Given the description of an element on the screen output the (x, y) to click on. 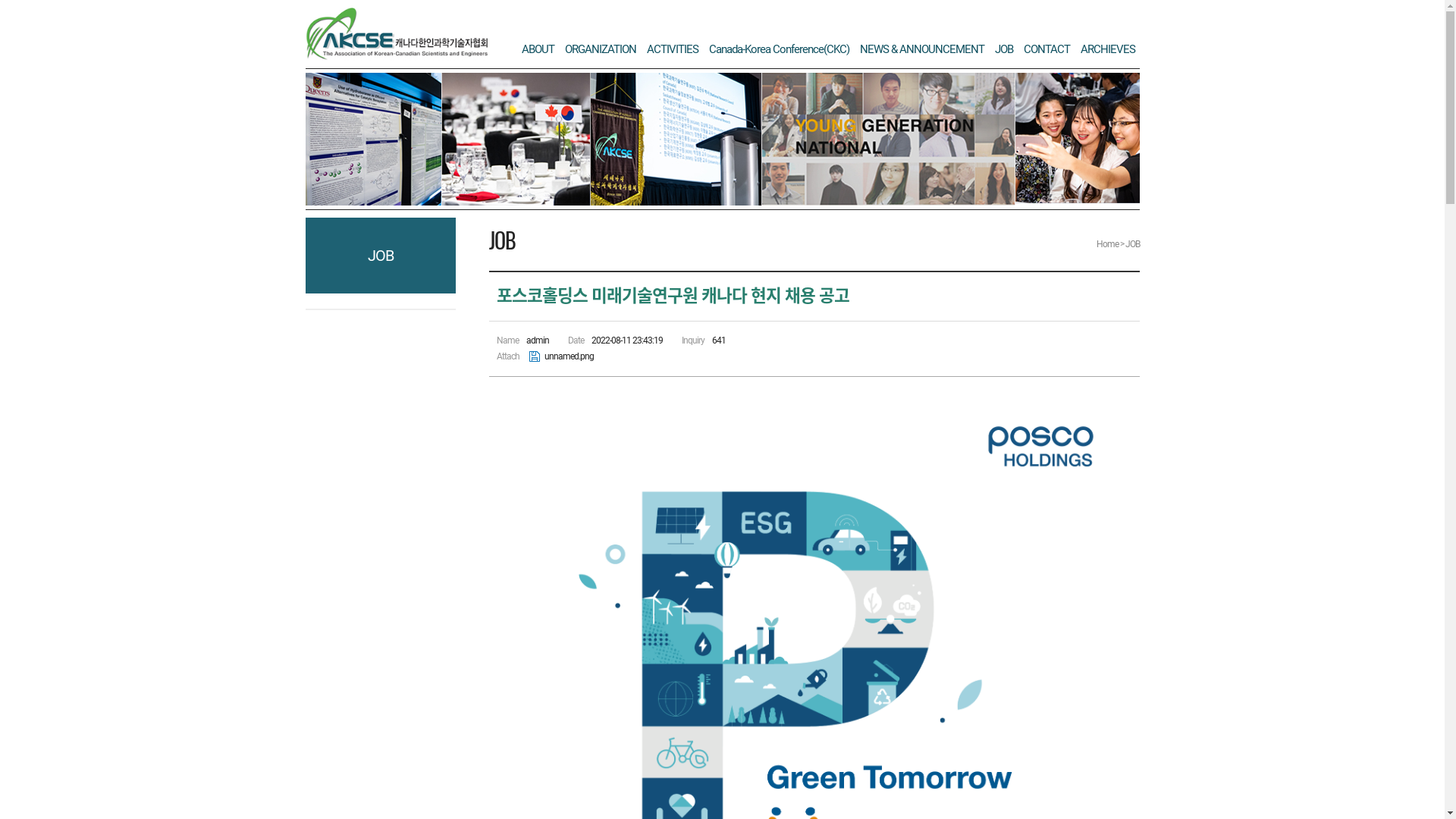
ORGANIZATION Element type: text (599, 48)
unnamed.png Element type: text (563, 356)
CONTACT Element type: text (1046, 48)
NEWS & ANNOUNCEMENT Element type: text (921, 48)
JOB Element type: text (1003, 48)
ACTIVITIES Element type: text (671, 48)
Canada-Korea Conference(CKC) Element type: text (778, 48)
Home Element type: text (1107, 244)
ABOUT Element type: text (537, 48)
ARCHIEVES Element type: text (1107, 48)
